Given the description of an element on the screen output the (x, y) to click on. 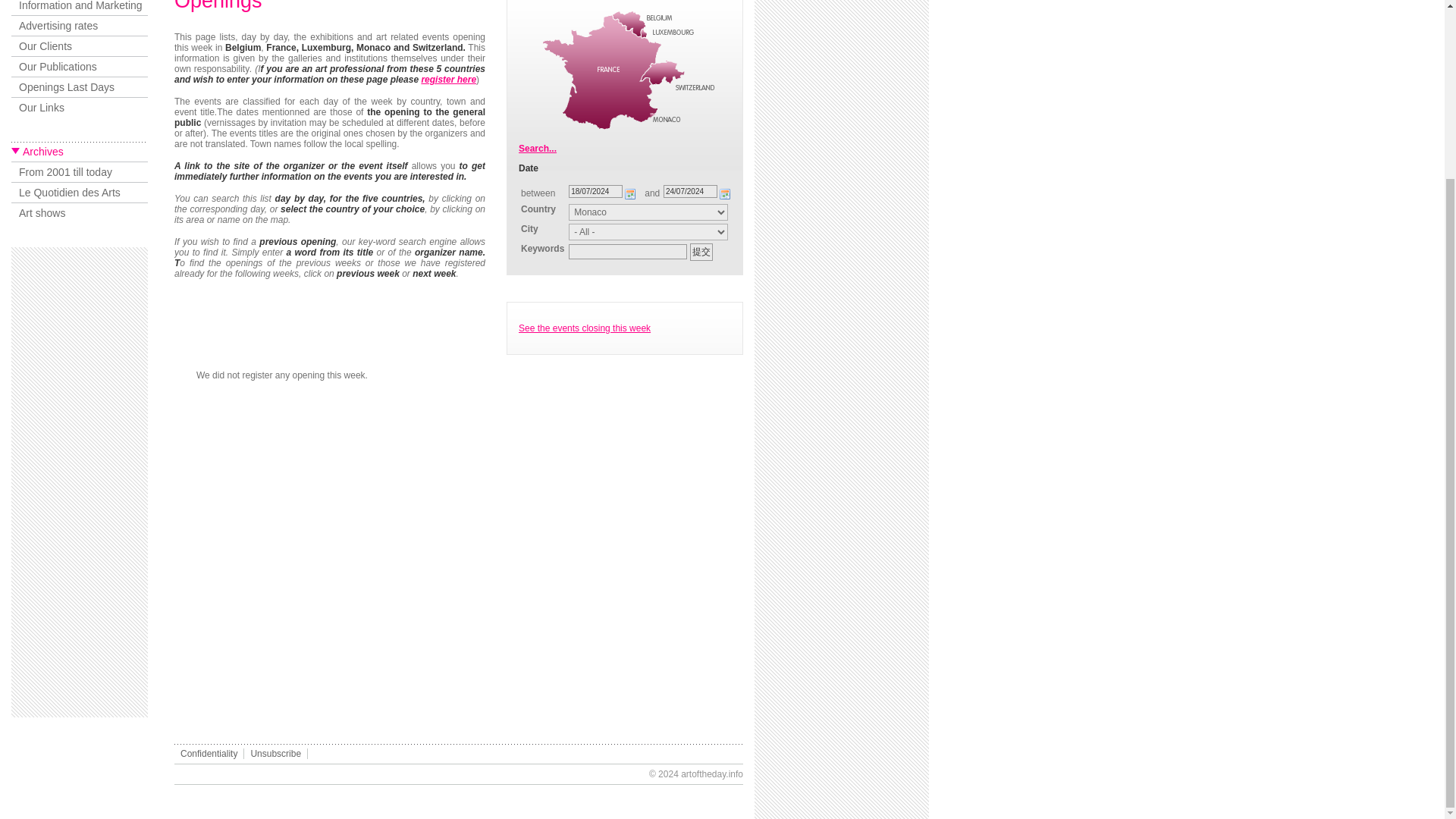
Choose date (725, 194)
From 2001 till today (79, 171)
Choose date (725, 194)
Choose date (630, 194)
Le Quotidien des Arts (79, 191)
Unsubscribe (275, 753)
See the events closing this week (584, 327)
Openings Last Days (79, 86)
Advertising rates (79, 25)
Art shows (79, 212)
Choose date (630, 194)
Search... (537, 148)
Our Links (79, 107)
Advertisement (78, 482)
Information and Marketing (79, 7)
